Given the description of an element on the screen output the (x, y) to click on. 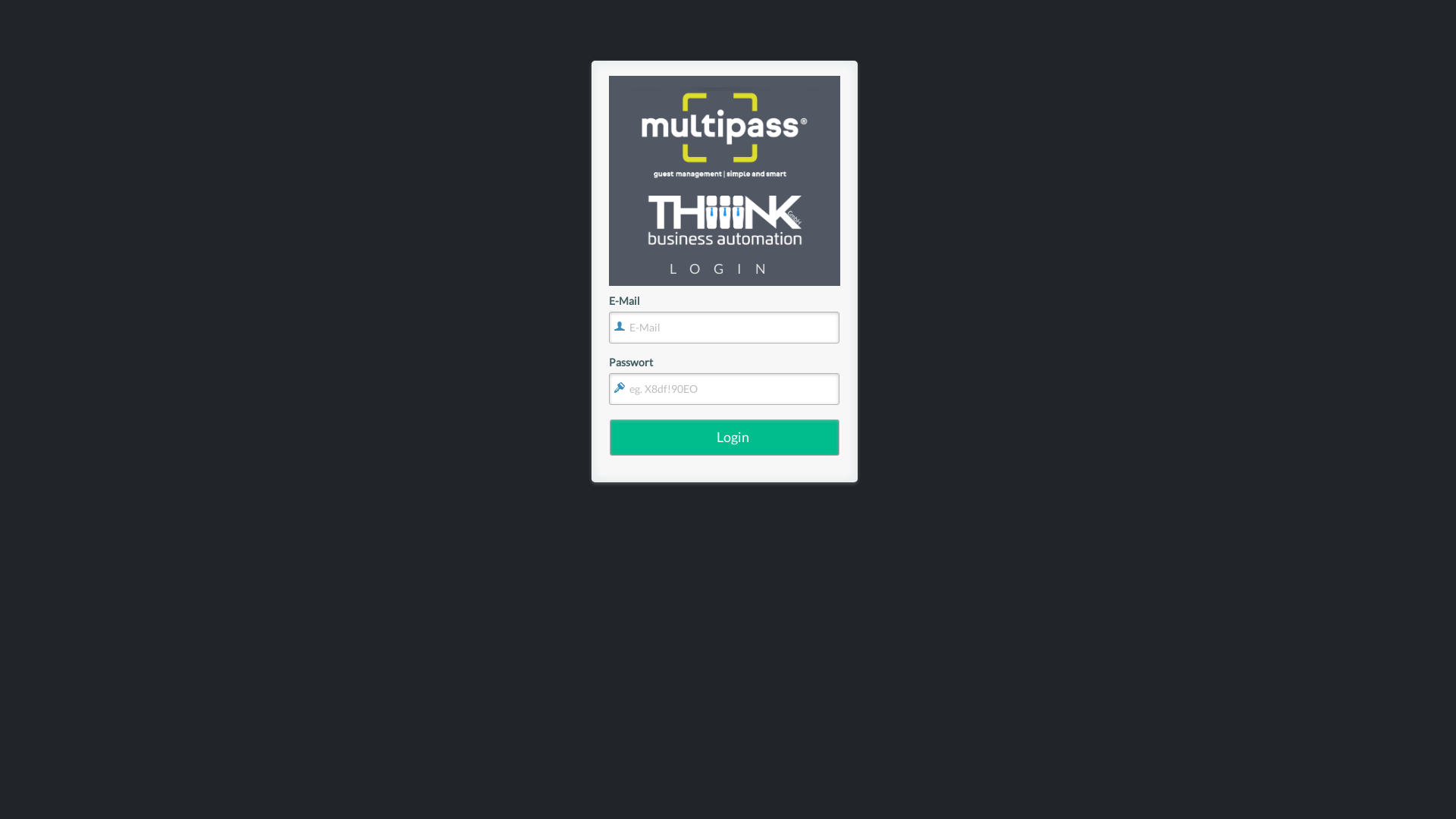
Submit Element type: text (724, 281)
Login Element type: text (724, 437)
